Given the description of an element on the screen output the (x, y) to click on. 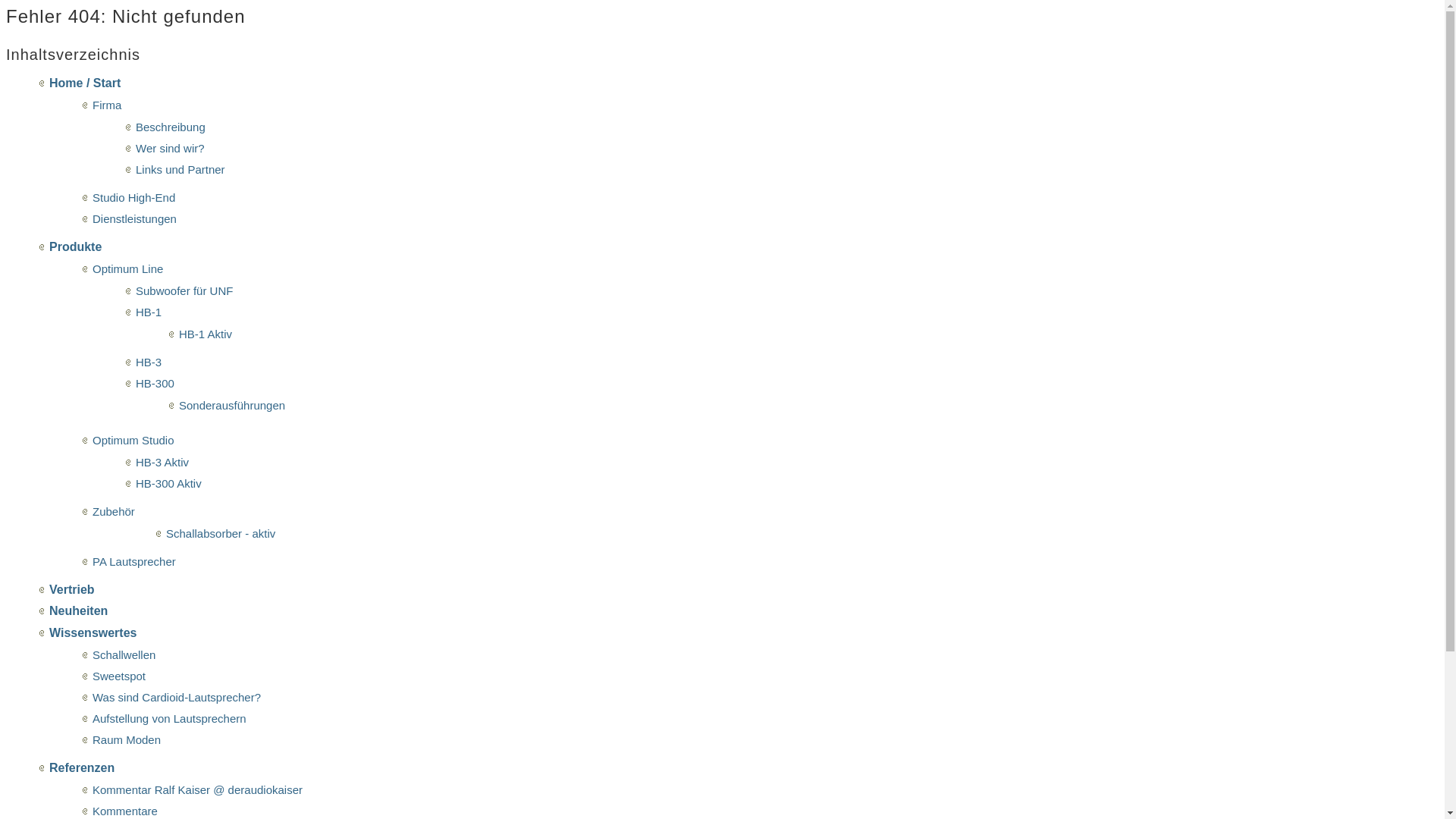
Raum Moden Element type: text (126, 739)
HB-300 Element type: text (154, 382)
Home / Start Element type: text (84, 82)
Optimum Line Element type: text (127, 268)
Schallwellen Element type: text (123, 654)
Vertrieb Element type: text (71, 589)
HB-3 Aktiv Element type: text (161, 461)
Kommentare Element type: text (124, 810)
Kommentar Ralf Kaiser @ deraudiokaiser Element type: text (197, 789)
Produkte Element type: text (75, 246)
Optimum Studio Element type: text (133, 439)
Links und Partner Element type: text (180, 169)
Wissenswertes Element type: text (92, 632)
HB-1 Element type: text (148, 311)
Schallabsorber - aktiv Element type: text (220, 533)
Referenzen Element type: text (81, 767)
HB-300 Aktiv Element type: text (168, 482)
Dienstleistungen Element type: text (134, 218)
Was sind Cardioid-Lautsprecher? Element type: text (176, 696)
HB-1 Aktiv Element type: text (205, 333)
Studio High-End Element type: text (133, 197)
Sweetspot Element type: text (118, 675)
Neuheiten Element type: text (78, 610)
HB-3 Element type: text (148, 361)
PA Lautsprecher Element type: text (133, 561)
Aufstellung von Lautsprechern Element type: text (169, 718)
Wer sind wir? Element type: text (169, 147)
Beschreibung Element type: text (170, 126)
Firma Element type: text (106, 104)
